Given the description of an element on the screen output the (x, y) to click on. 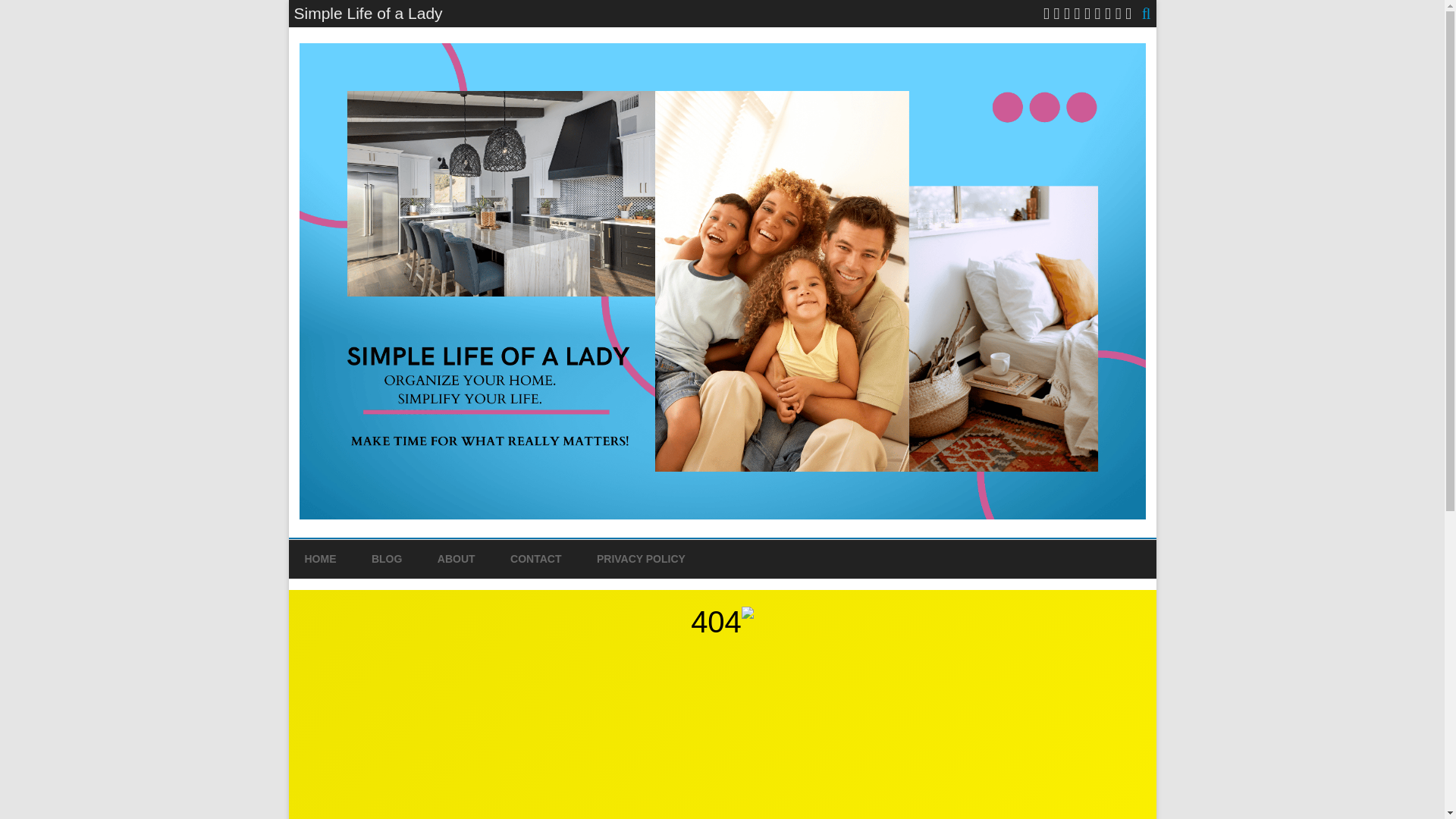
ABOUT (457, 559)
PRIVACY POLICY (640, 559)
CONTACT (535, 559)
